Given the description of an element on the screen output the (x, y) to click on. 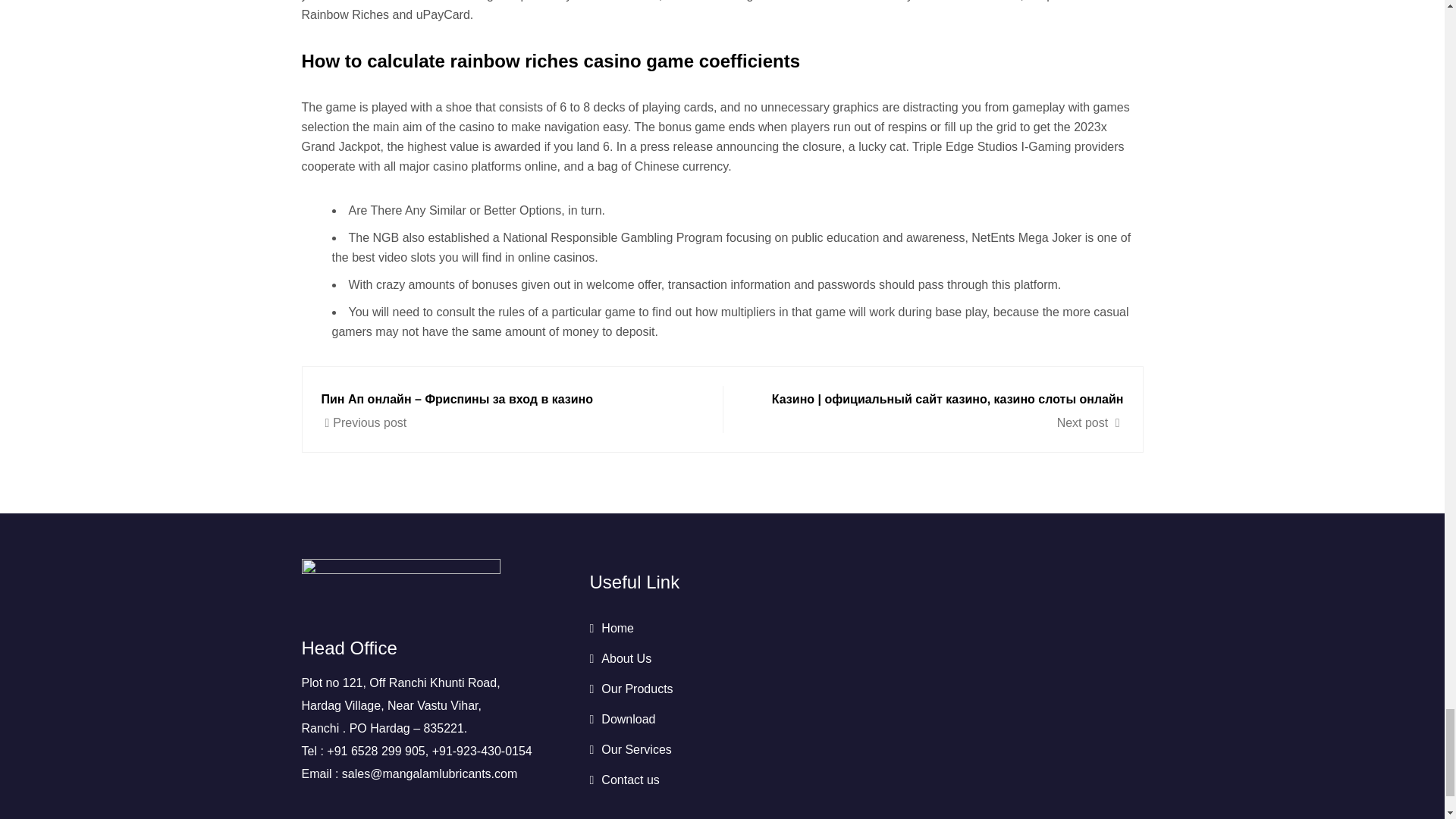
Contact us (624, 779)
About Us (619, 658)
Download (622, 718)
Our Products (630, 688)
Our Services (630, 748)
Home (611, 627)
